Given the description of an element on the screen output the (x, y) to click on. 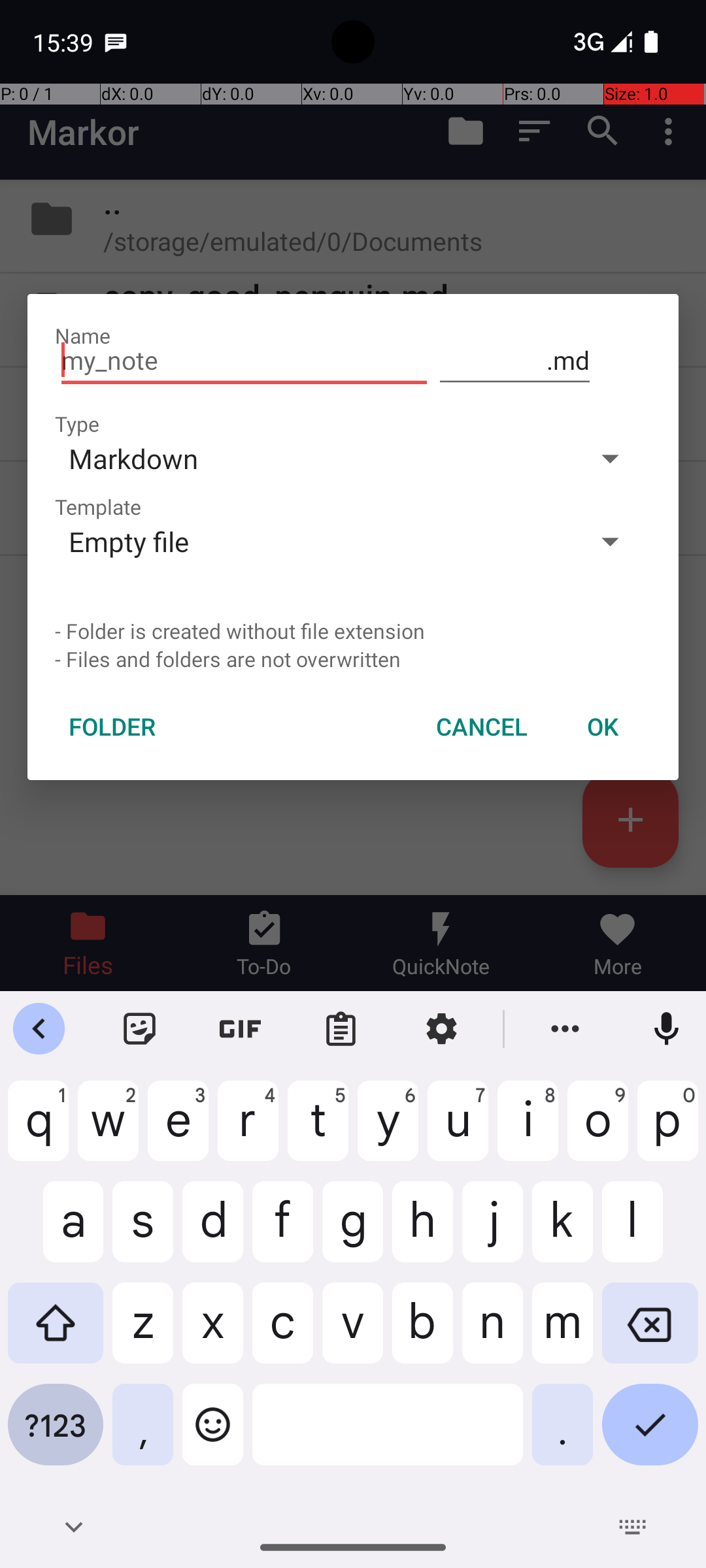
15:39 Element type: android.widget.TextView (64, 41)
